Given the description of an element on the screen output the (x, y) to click on. 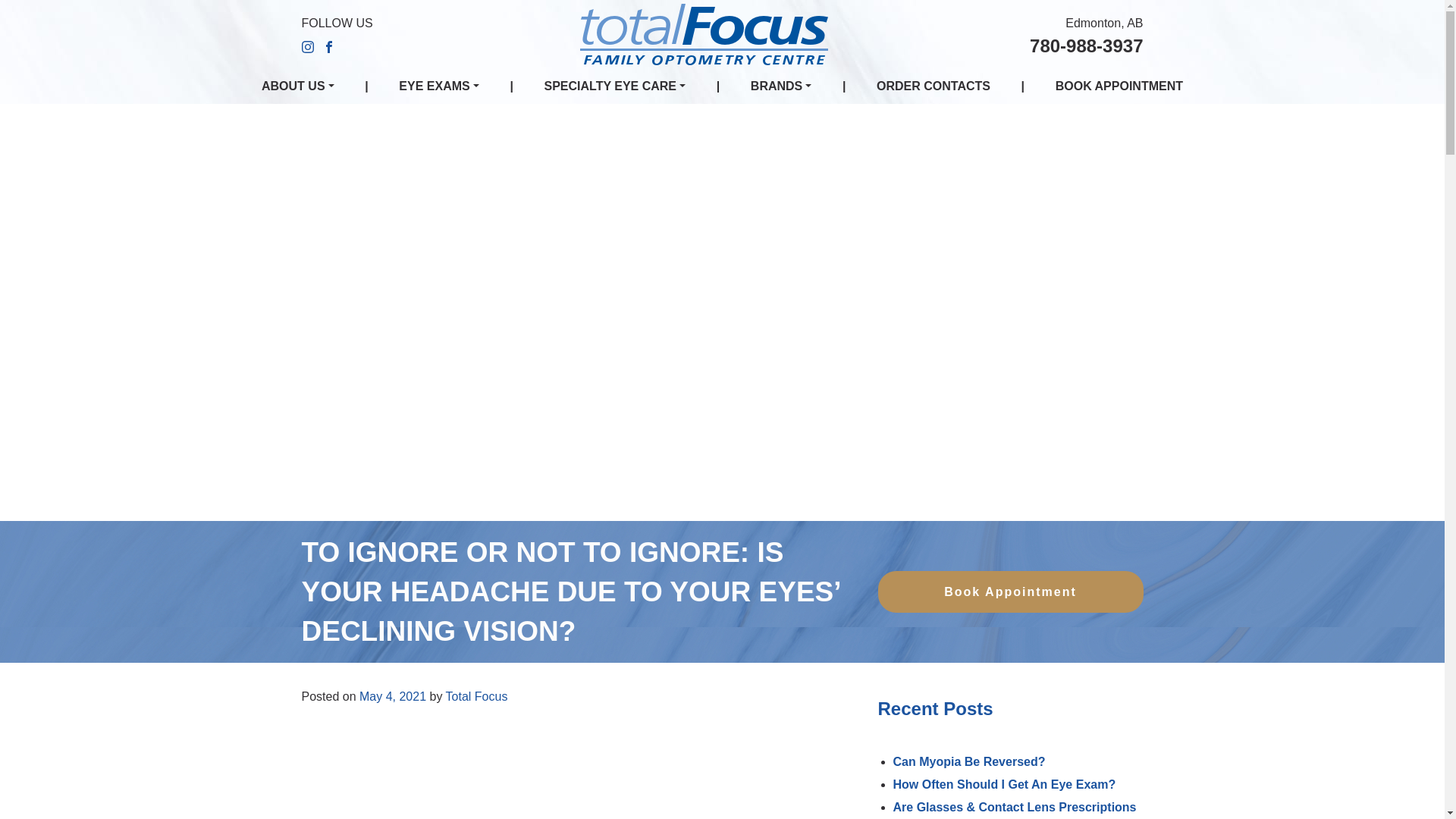
ORDER CONTACTS (933, 86)
780-988-3937 (1085, 46)
EYE EXAMS (438, 86)
BOOK APPOINTMENT (1118, 86)
May 4, 2021 (392, 696)
Total Focus (476, 696)
Facebook (328, 45)
Specialty Eye Care (614, 86)
ABOUT US (298, 86)
Book Appointment (1009, 591)
Eye Exams (438, 86)
BRANDS (781, 86)
About  Us (298, 86)
Instagram (307, 45)
SPECIALTY EYE CARE (614, 86)
